Given the description of an element on the screen output the (x, y) to click on. 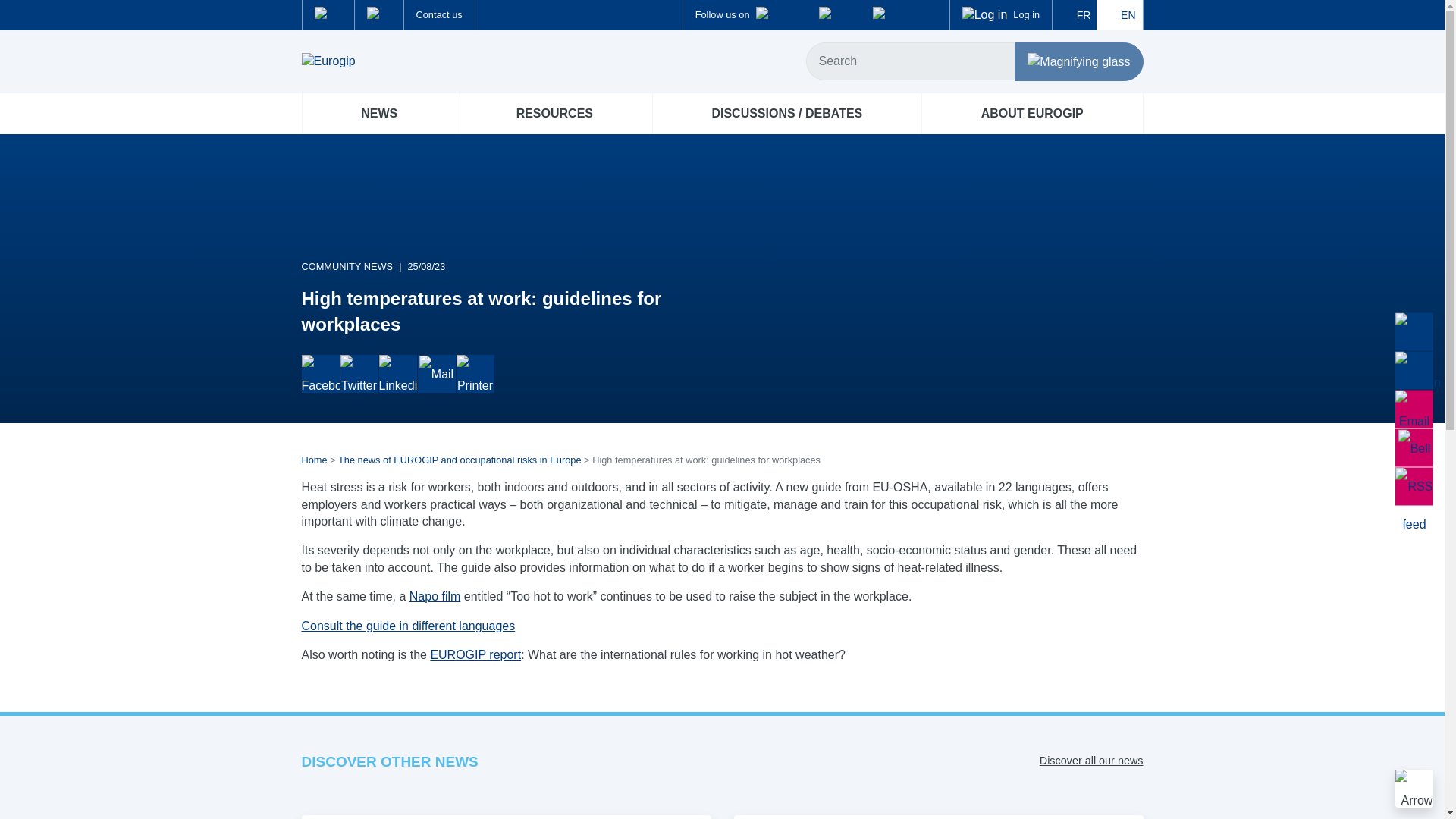
Log in (1001, 15)
ABOUT EUROGIP (1031, 113)
EN (1118, 15)
RESOURCES (554, 113)
NEWS (378, 113)
Contact us (440, 15)
FR (1074, 15)
